Given the description of an element on the screen output the (x, y) to click on. 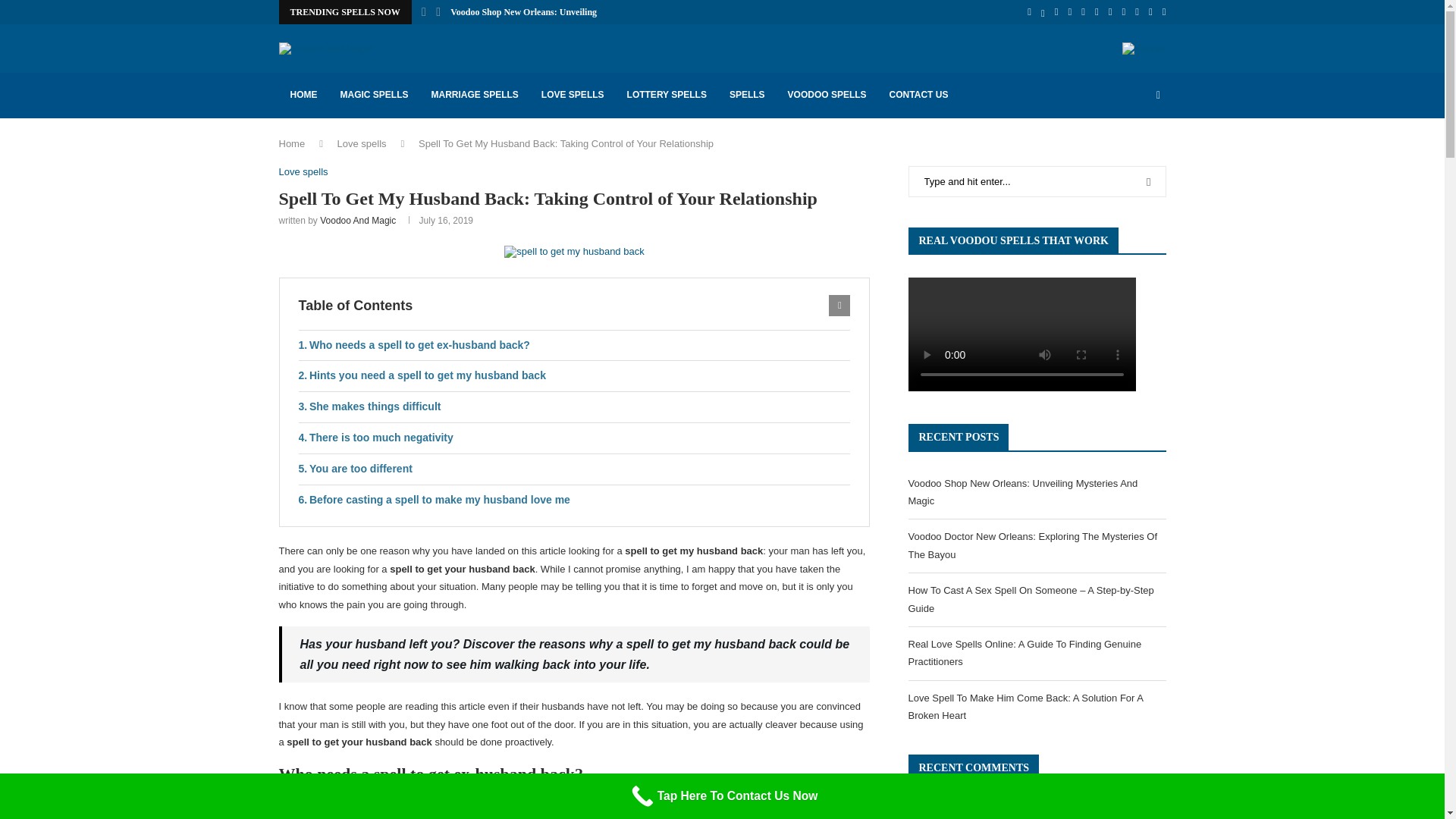
SPELLS (746, 94)
She makes things difficult  (574, 407)
Hints you need a spell to get my husband back (574, 376)
VOODOO SPELLS (826, 94)
CONTACT US (918, 94)
Home (292, 143)
LOVE SPELLS (572, 94)
Love spells (362, 143)
Who needs a spell to get ex-husband back?  (574, 345)
HOME (304, 94)
